Given the description of an element on the screen output the (x, y) to click on. 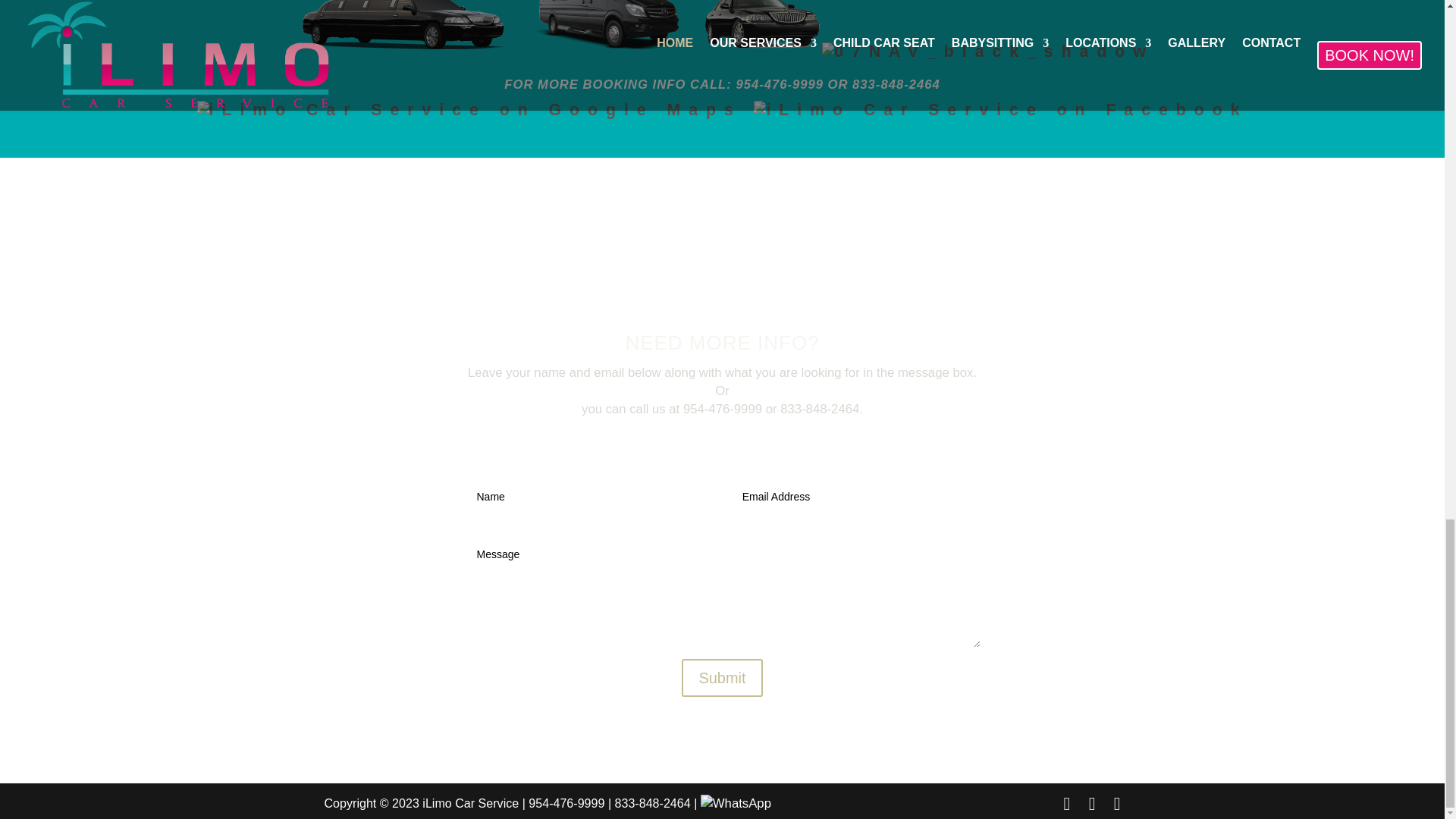
iLimo Car Service on Facebook (1000, 109)
iLimo Car Service on Google Maps (468, 109)
Email Address (854, 496)
Name (589, 496)
